Given the description of an element on the screen output the (x, y) to click on. 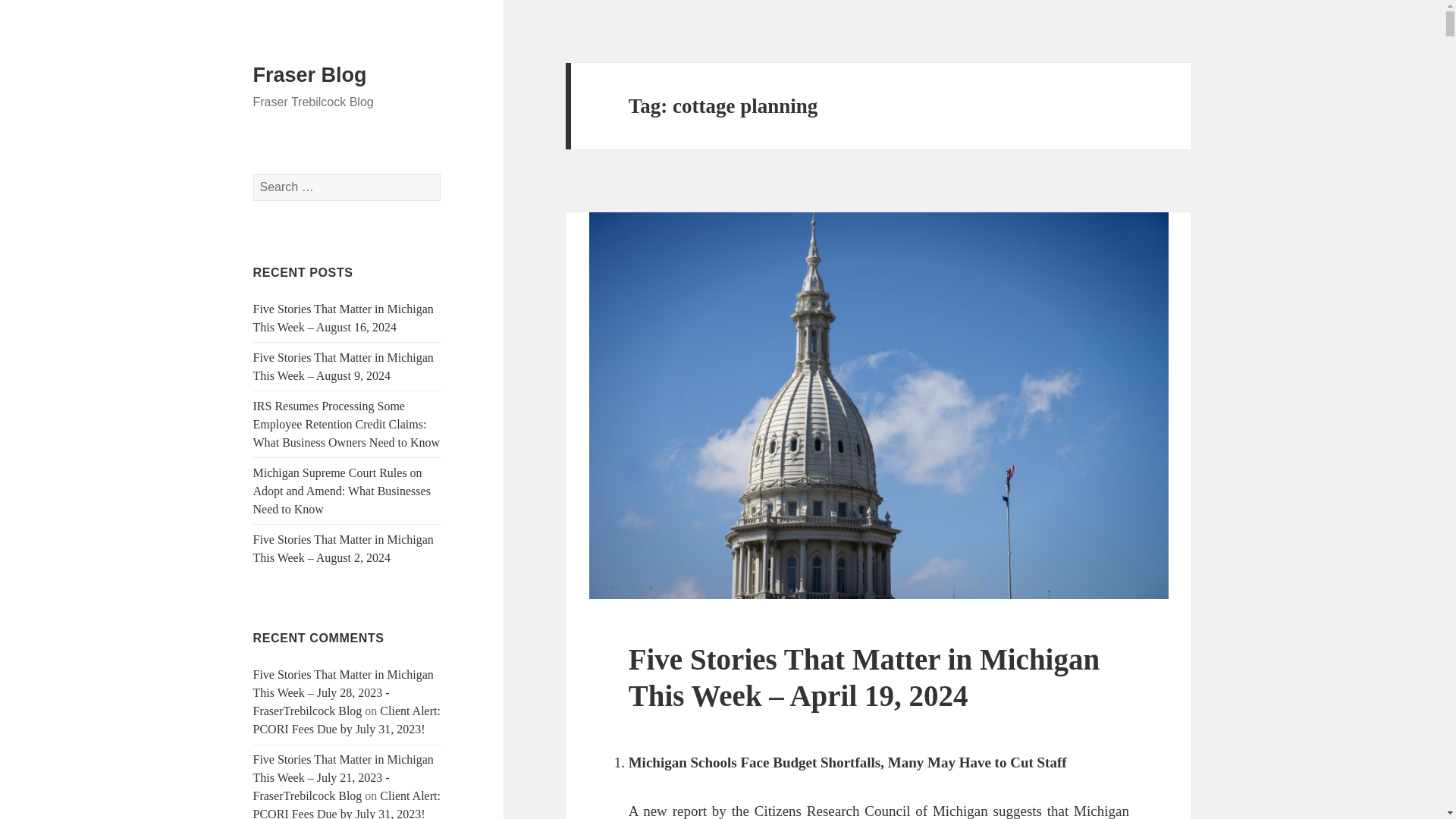
Fraser Blog (309, 74)
Client Alert: PCORI Fees Due by July 31, 2023! (347, 719)
Client Alert: PCORI Fees Due by July 31, 2023! (347, 804)
